Given the description of an element on the screen output the (x, y) to click on. 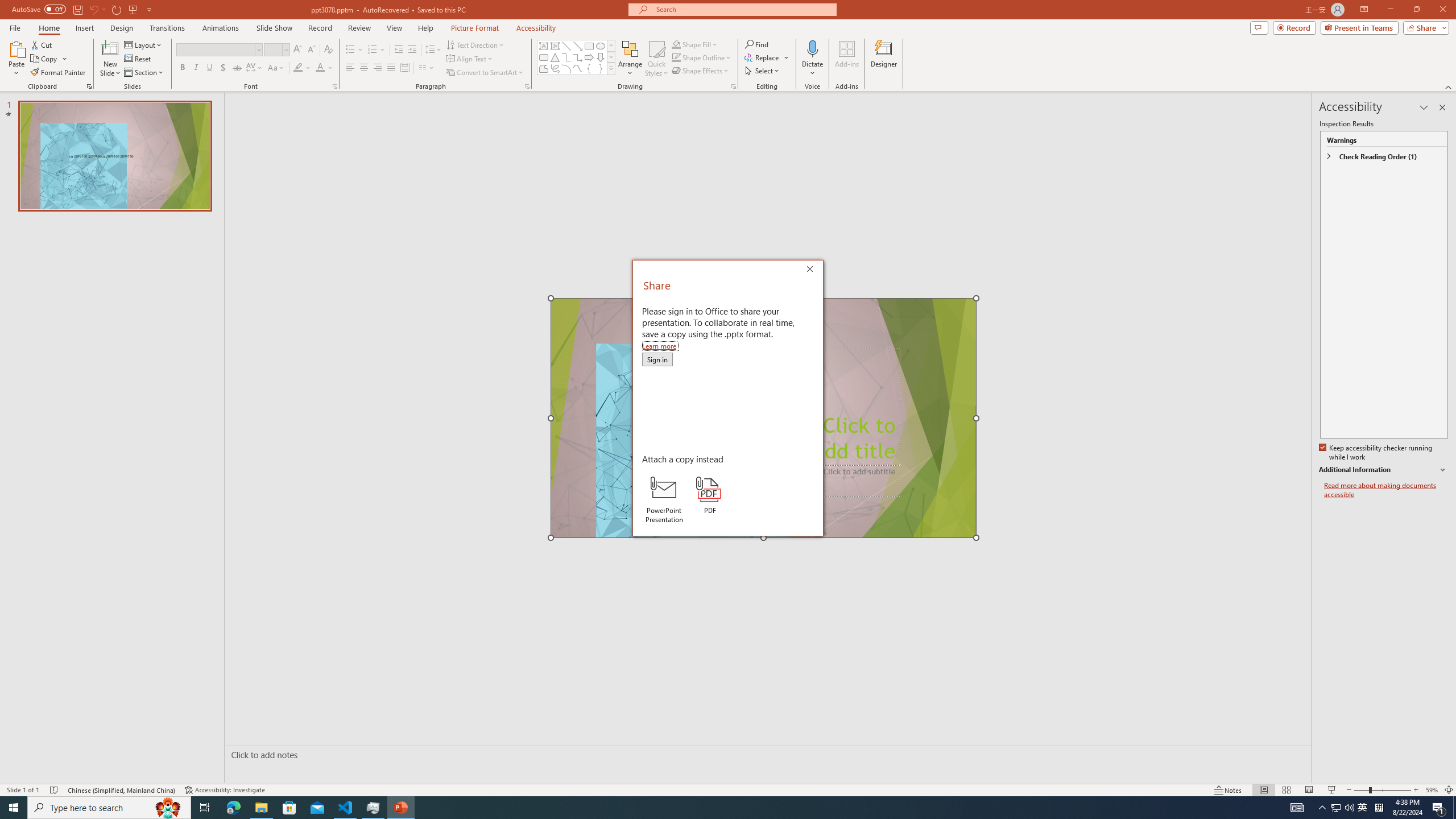
Zoom 59% (1431, 790)
